Given the description of an element on the screen output the (x, y) to click on. 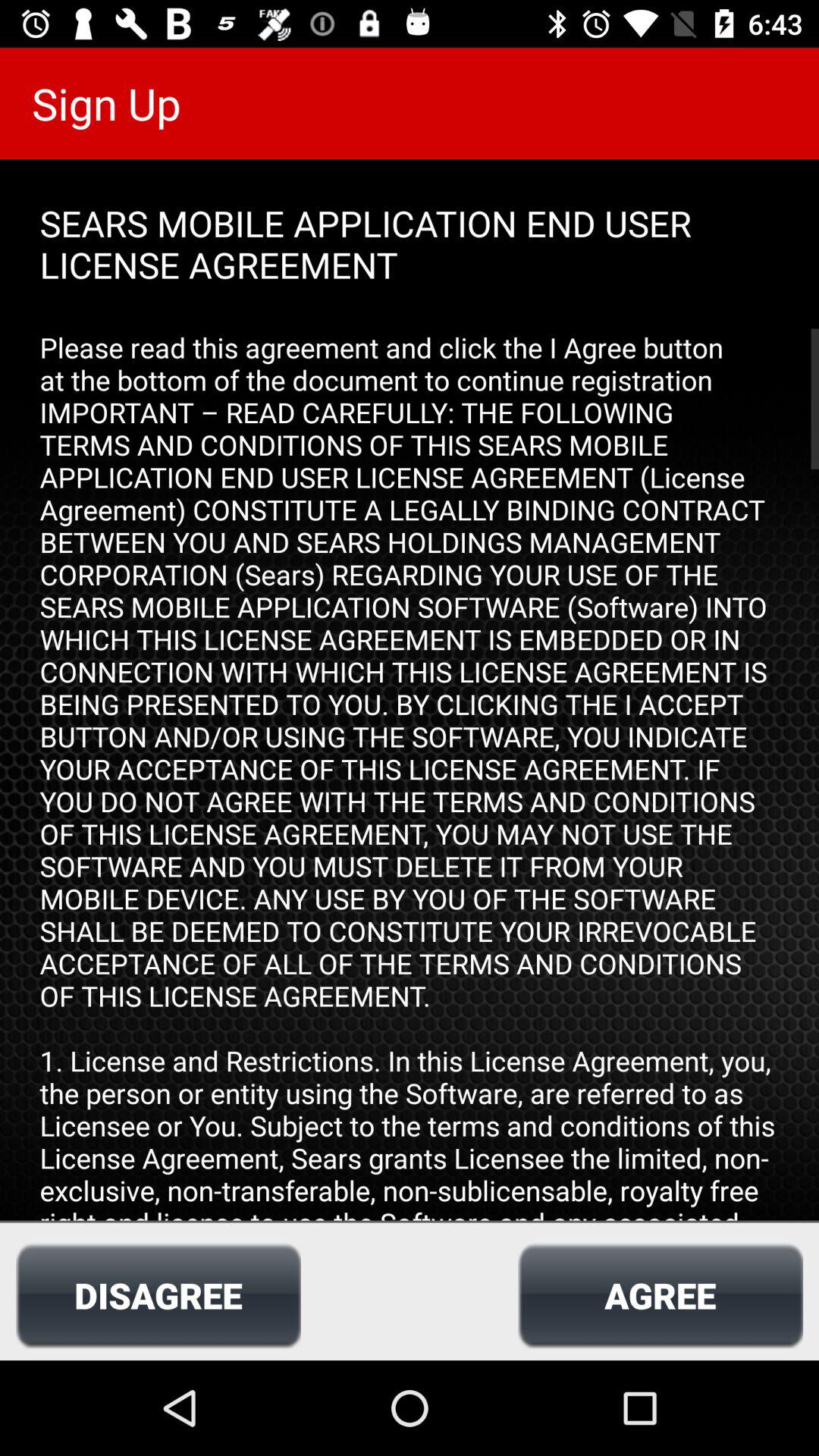
select icon at the bottom left corner (157, 1295)
